Given the description of an element on the screen output the (x, y) to click on. 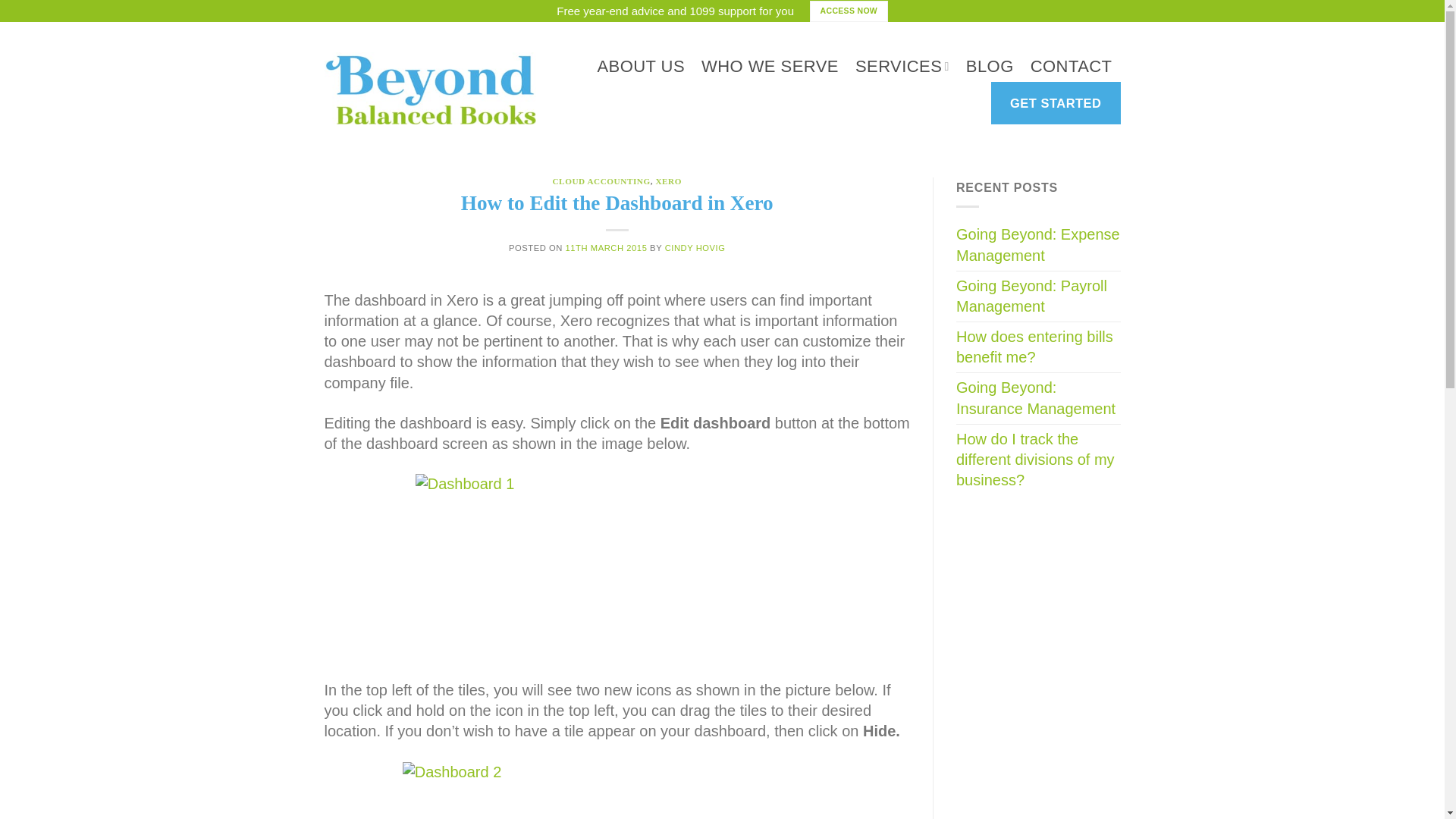
11TH MARCH 2015 (606, 247)
CINDY HOVIG (695, 247)
ACCESS NOW (848, 10)
SERVICES (902, 66)
How does entering bills benefit me? (1038, 347)
XERO (668, 180)
CONTACT (1071, 66)
Beyond Balanced Books (430, 87)
WHO WE SERVE (769, 66)
BLOG (989, 66)
How do I track the different divisions of my business? (1038, 460)
GET STARTED (1056, 102)
Going Beyond: Insurance Management (1038, 398)
Going Beyond: Expense Management (1038, 245)
Going Beyond: Payroll Management (1038, 296)
